Given the description of an element on the screen output the (x, y) to click on. 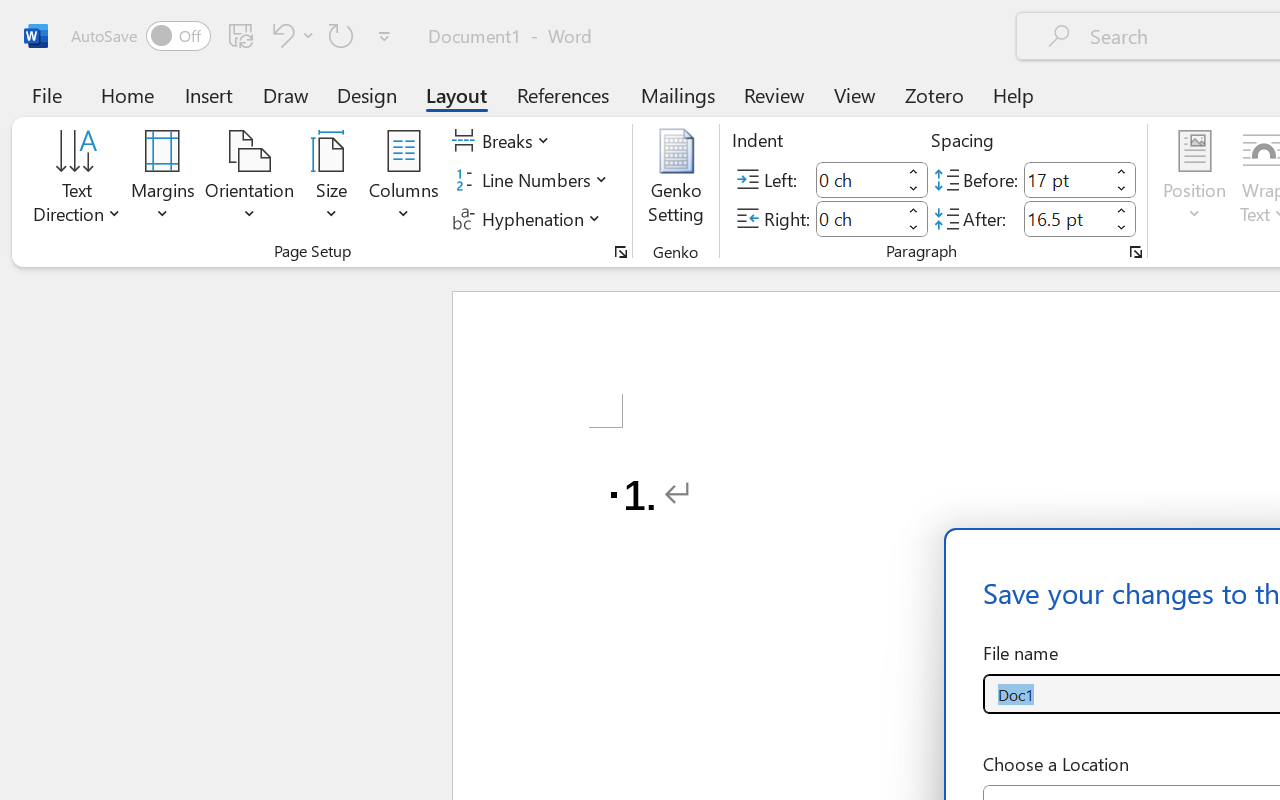
Indent Left (858, 179)
Breaks (504, 141)
Line Numbers (532, 179)
Spacing Before (1066, 179)
